Given the description of an element on the screen output the (x, y) to click on. 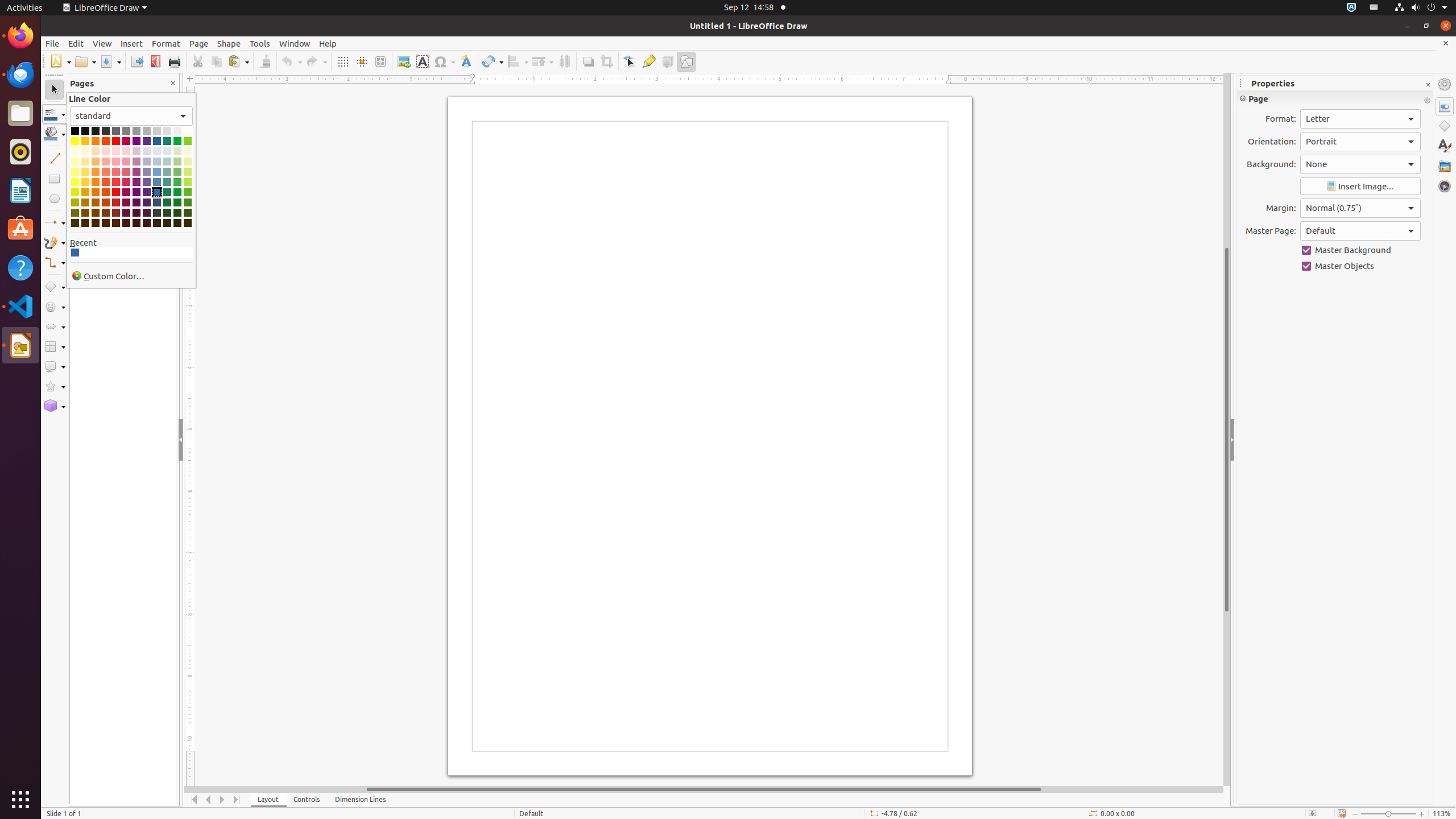
Helplines While Moving Element type: toggle-button (361, 61)
Rhythmbox Element type: push-button (20, 151)
Light Blue 2 Element type: list-item (156, 171)
Custom Color… Element type: push-button (130, 275)
Light Brick 3 Element type: list-item (105, 161)
